Given the description of an element on the screen output the (x, y) to click on. 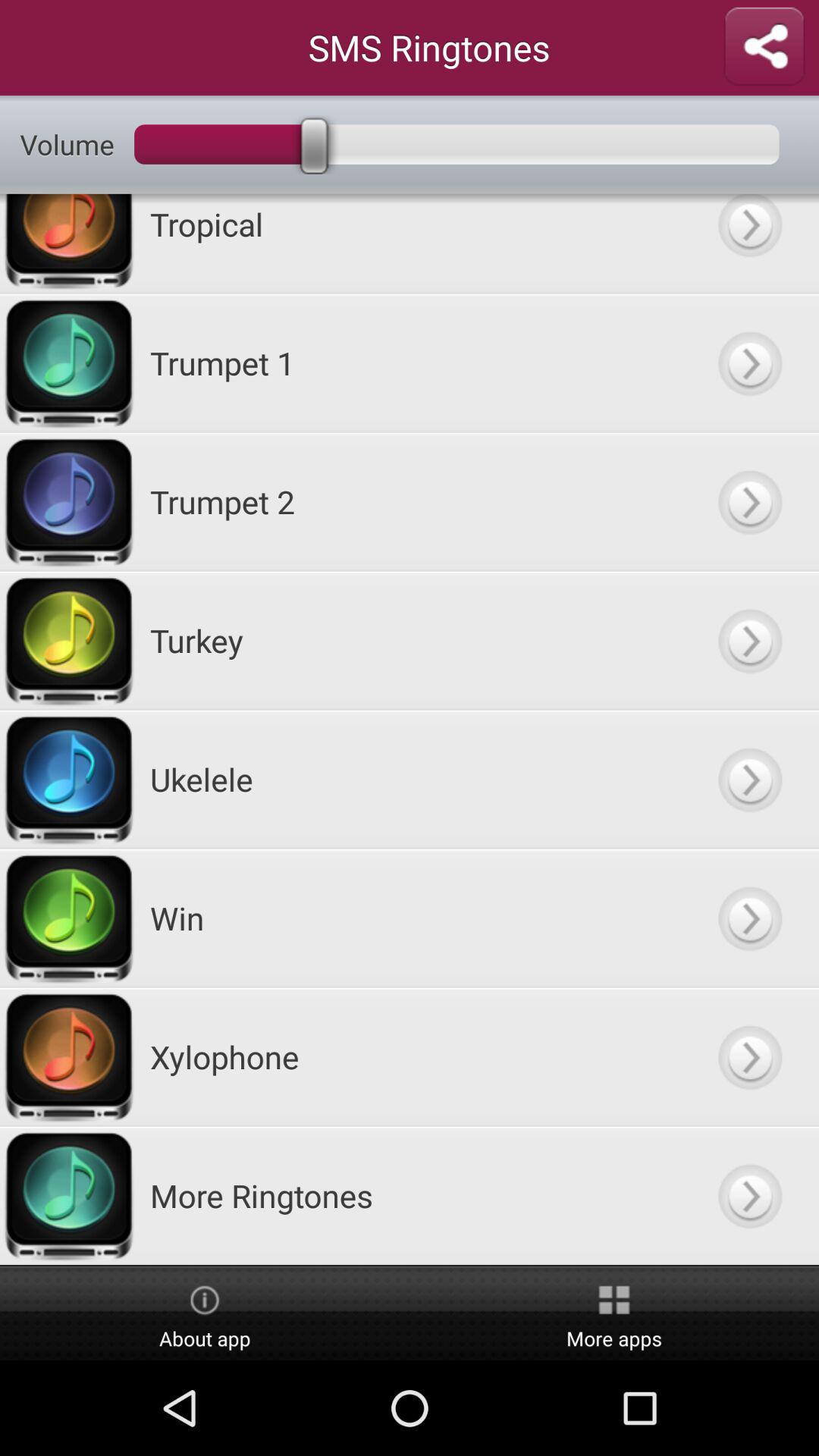
open the more ringtones screen (749, 1195)
